Given the description of an element on the screen output the (x, y) to click on. 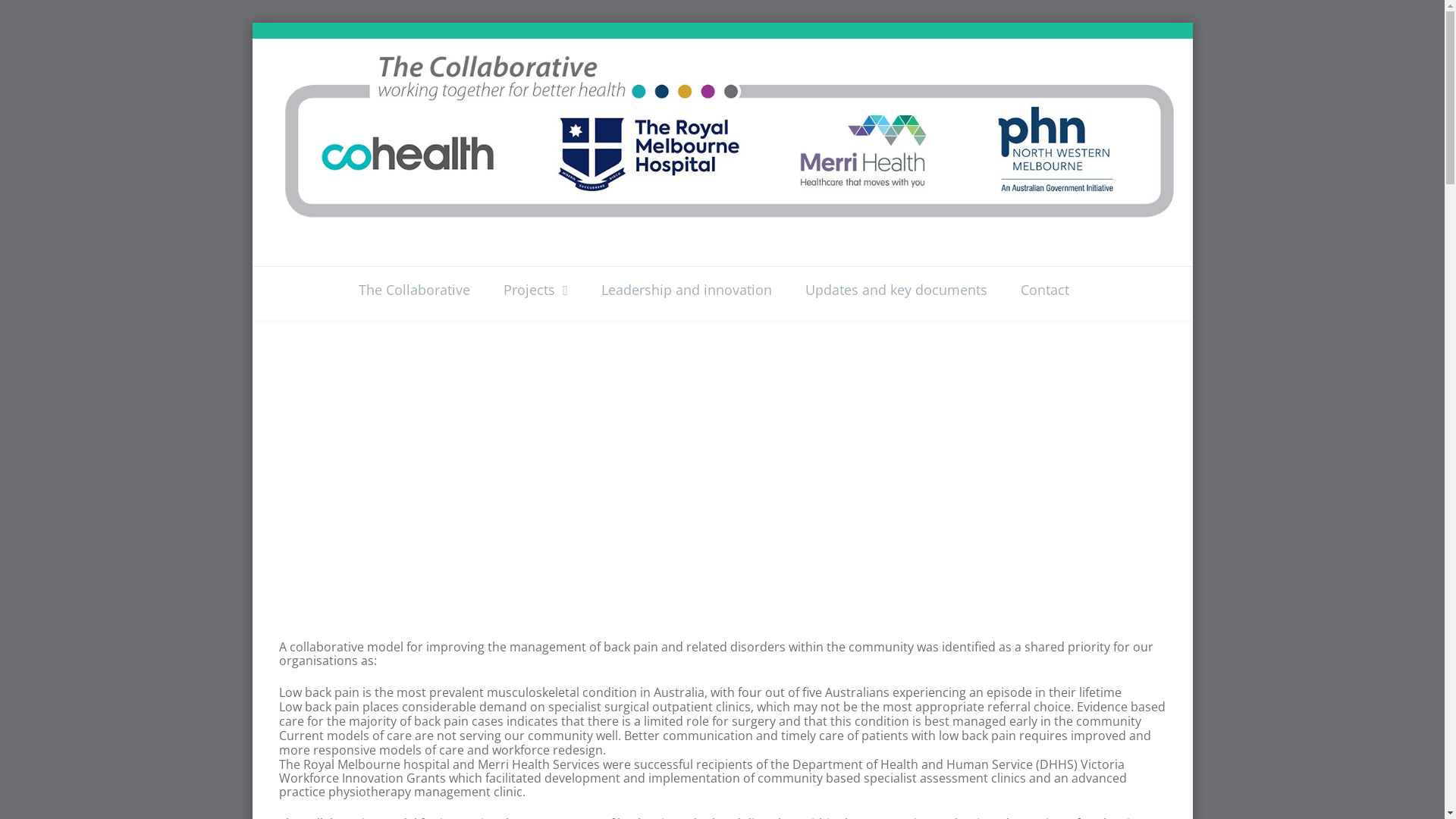
Leadership and innovation Element type: text (686, 291)
Projects Element type: text (535, 291)
The Collaborative Element type: hover (726, 133)
Contact Element type: text (1044, 291)
Updates and key documents Element type: text (896, 291)
The Collaborative Element type: text (422, 291)
